Given the description of an element on the screen output the (x, y) to click on. 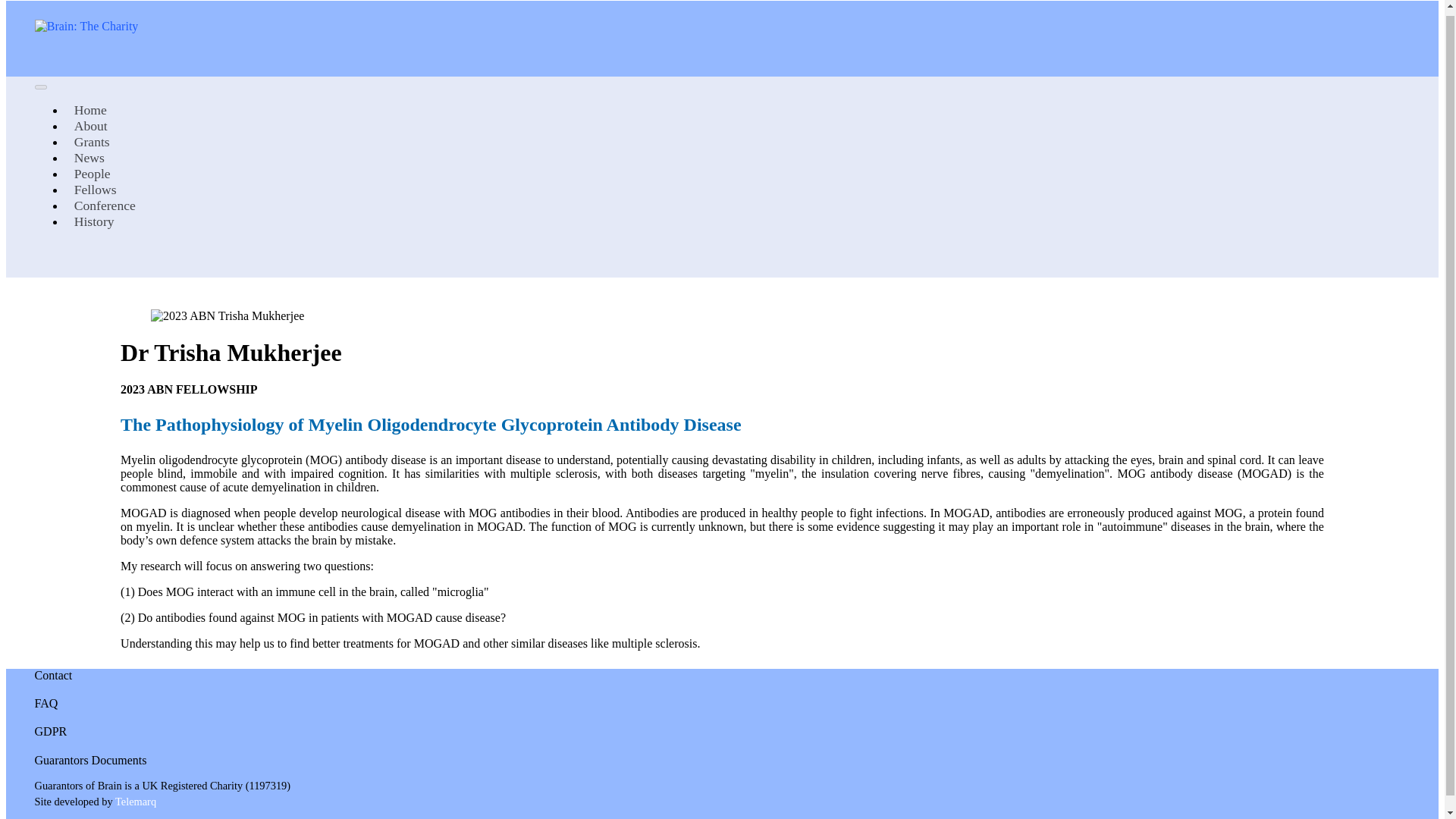
FAQ (46, 703)
GDPR (50, 731)
History (94, 221)
Contact (53, 675)
People (92, 173)
Guarantors Documents (90, 759)
About (90, 125)
Search (44, 265)
Telemarq (135, 802)
News (89, 157)
